Given the description of an element on the screen output the (x, y) to click on. 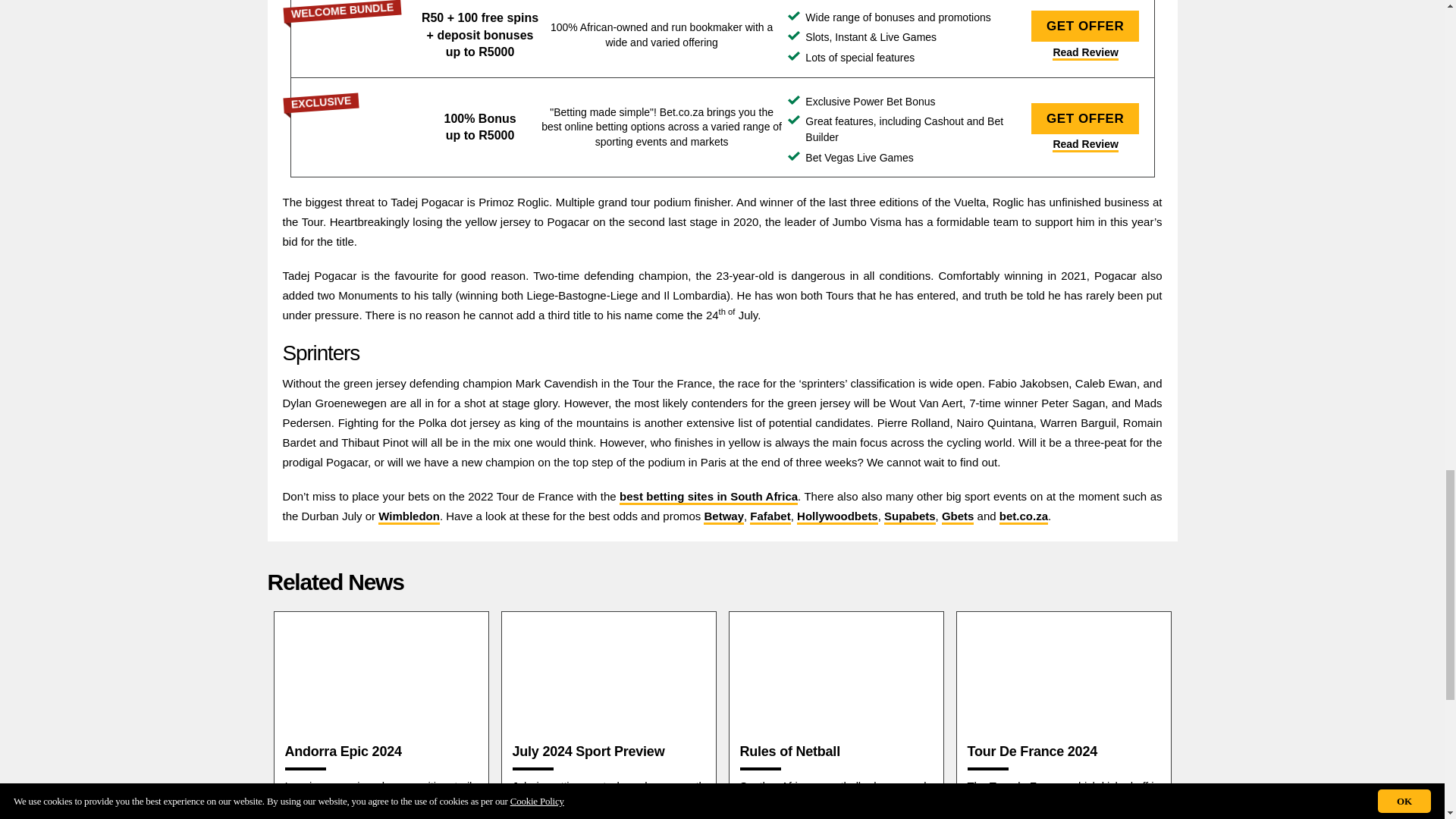
bet.co.za (359, 127)
Supabets (359, 35)
